Given the description of an element on the screen output the (x, y) to click on. 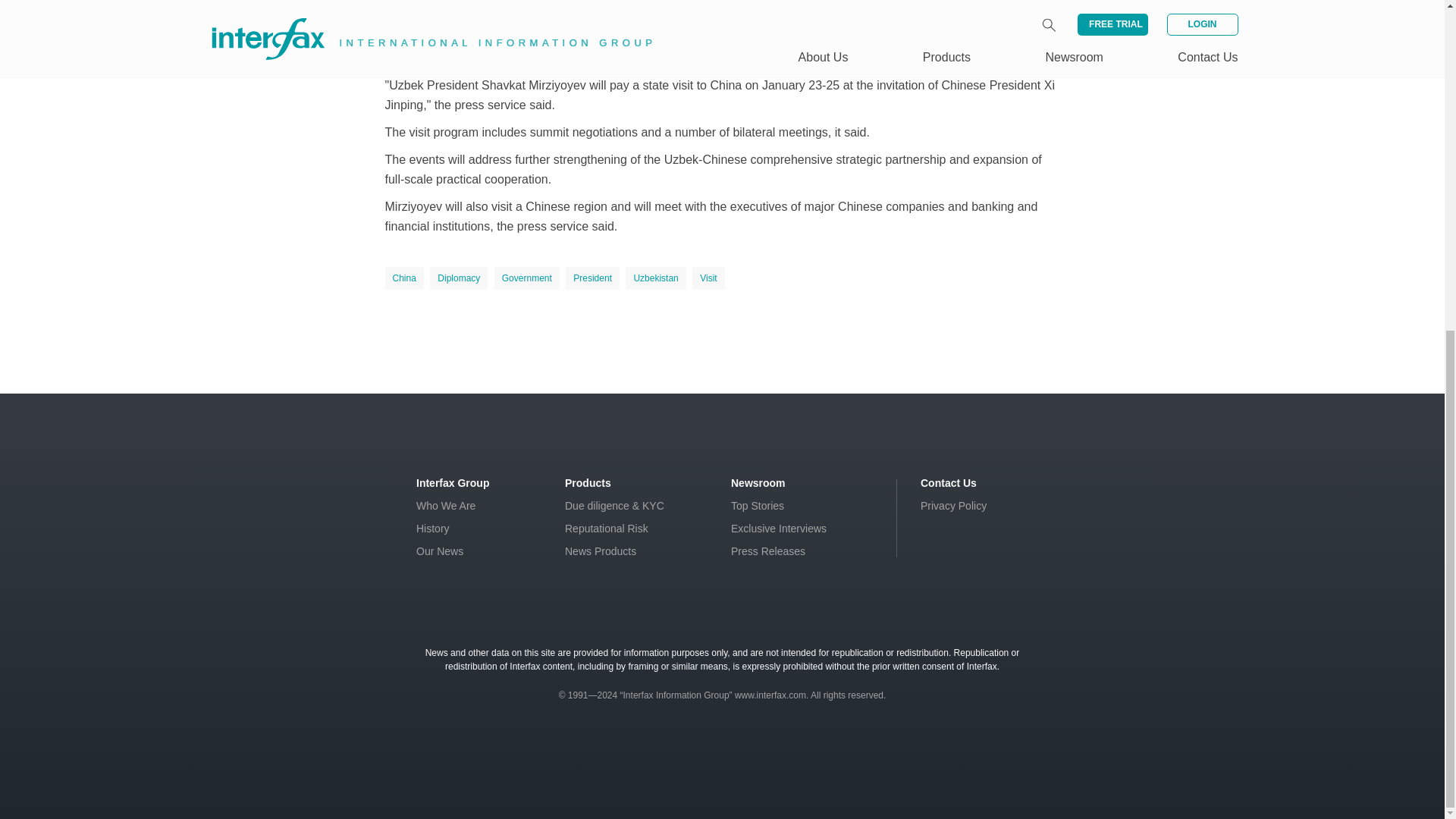
Government (527, 277)
China (404, 277)
Diplomacy (458, 277)
President (593, 277)
